Given the description of an element on the screen output the (x, y) to click on. 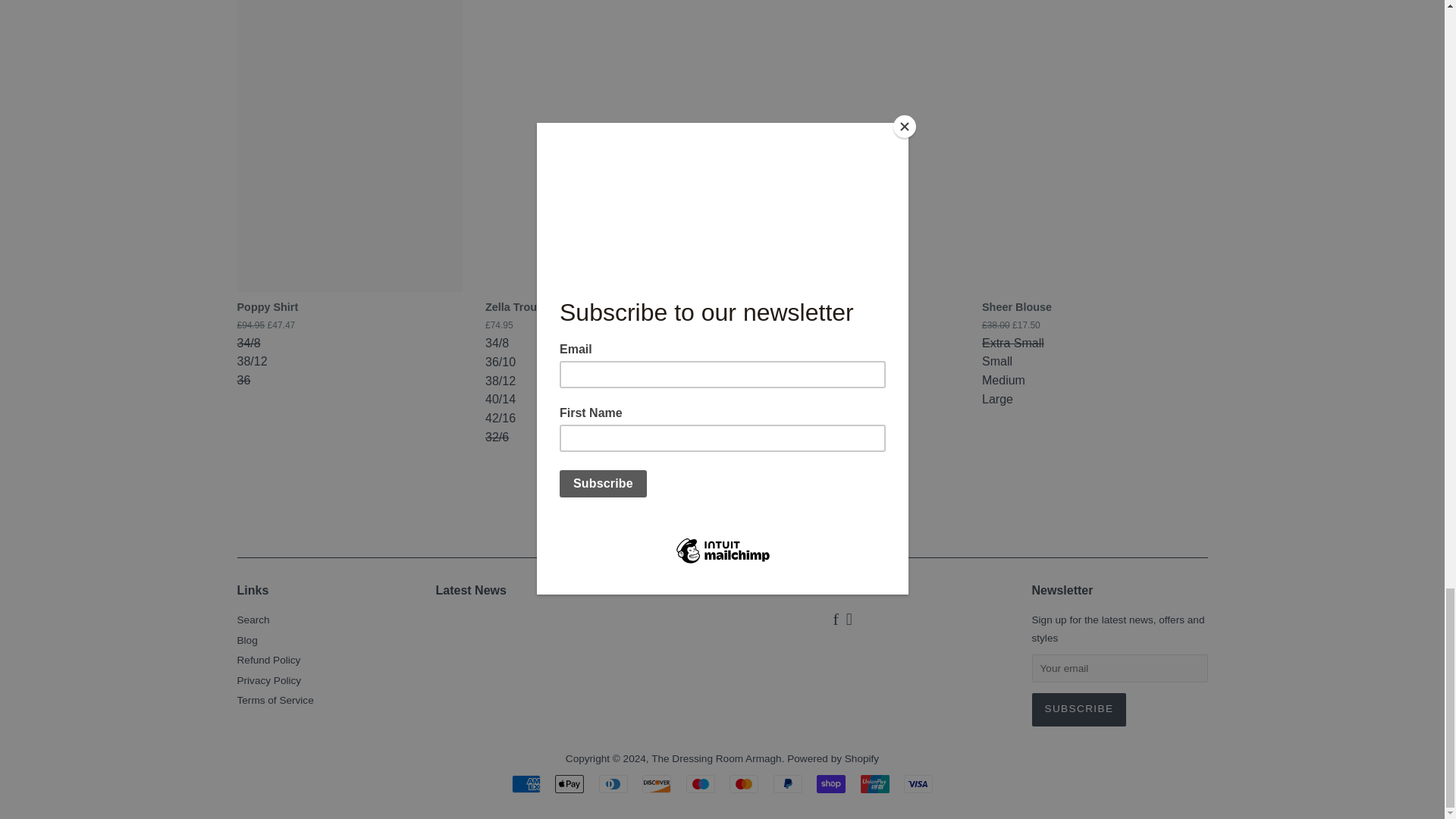
Maestro (699, 783)
Mastercard (743, 783)
American Express (526, 783)
Union Pay (874, 783)
Visa (918, 783)
Discover (656, 783)
Subscribe (1077, 709)
Diners Club (612, 783)
Apple Pay (568, 783)
PayPal (787, 783)
Shop Pay (830, 783)
